Given the description of an element on the screen output the (x, y) to click on. 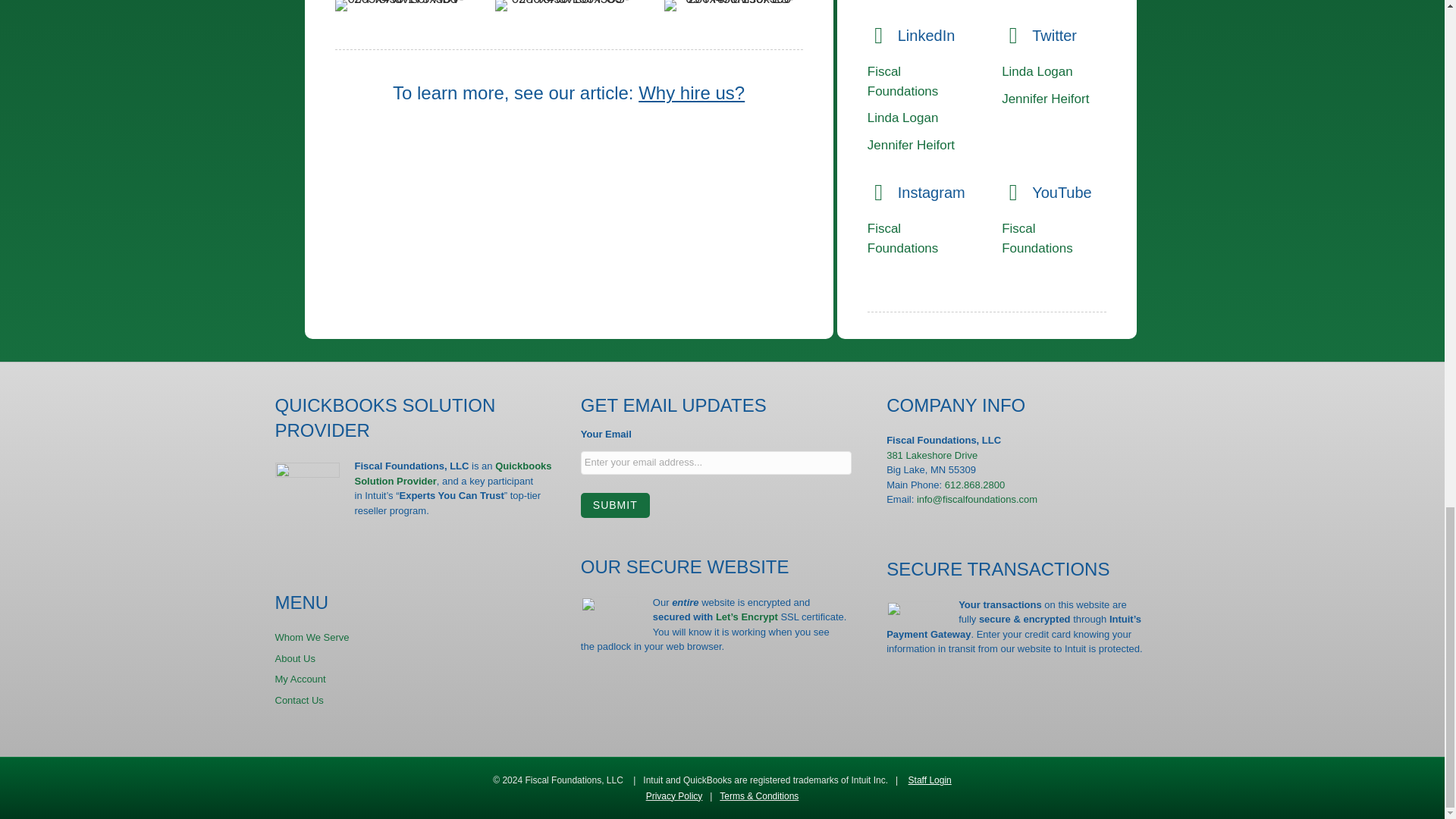
09-ProAdvisor-ADV-263x450-175x300 (399, 5)
Submit (614, 505)
09-ProAdvisor-ES-286x450-190x300 (733, 5)
09-ProAdvisor-POS-286x450-190x300 (564, 5)
